Given the description of an element on the screen output the (x, y) to click on. 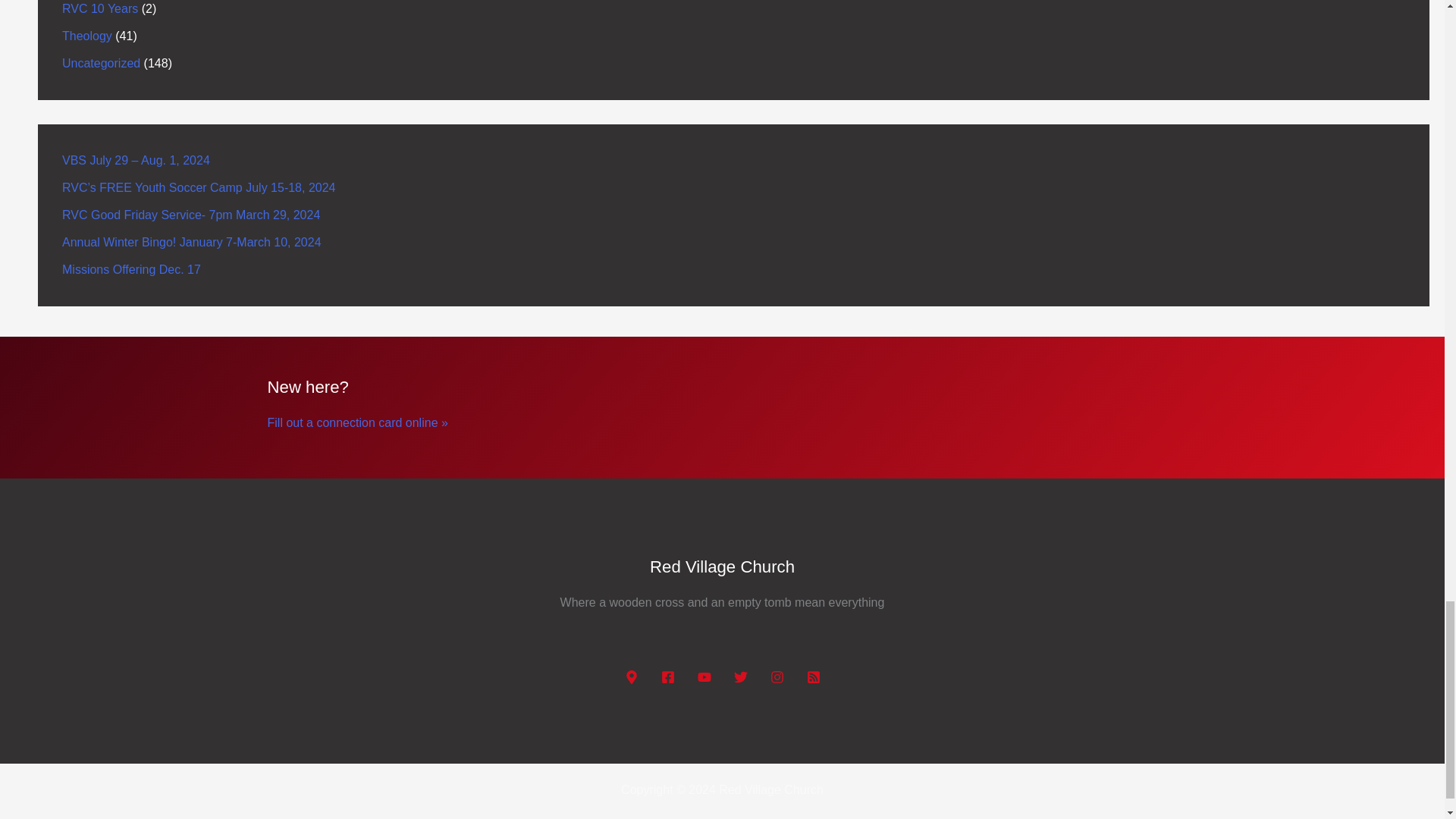
Theology (87, 35)
RVC 10 Years (100, 8)
Uncategorized (100, 62)
